Given the description of an element on the screen output the (x, y) to click on. 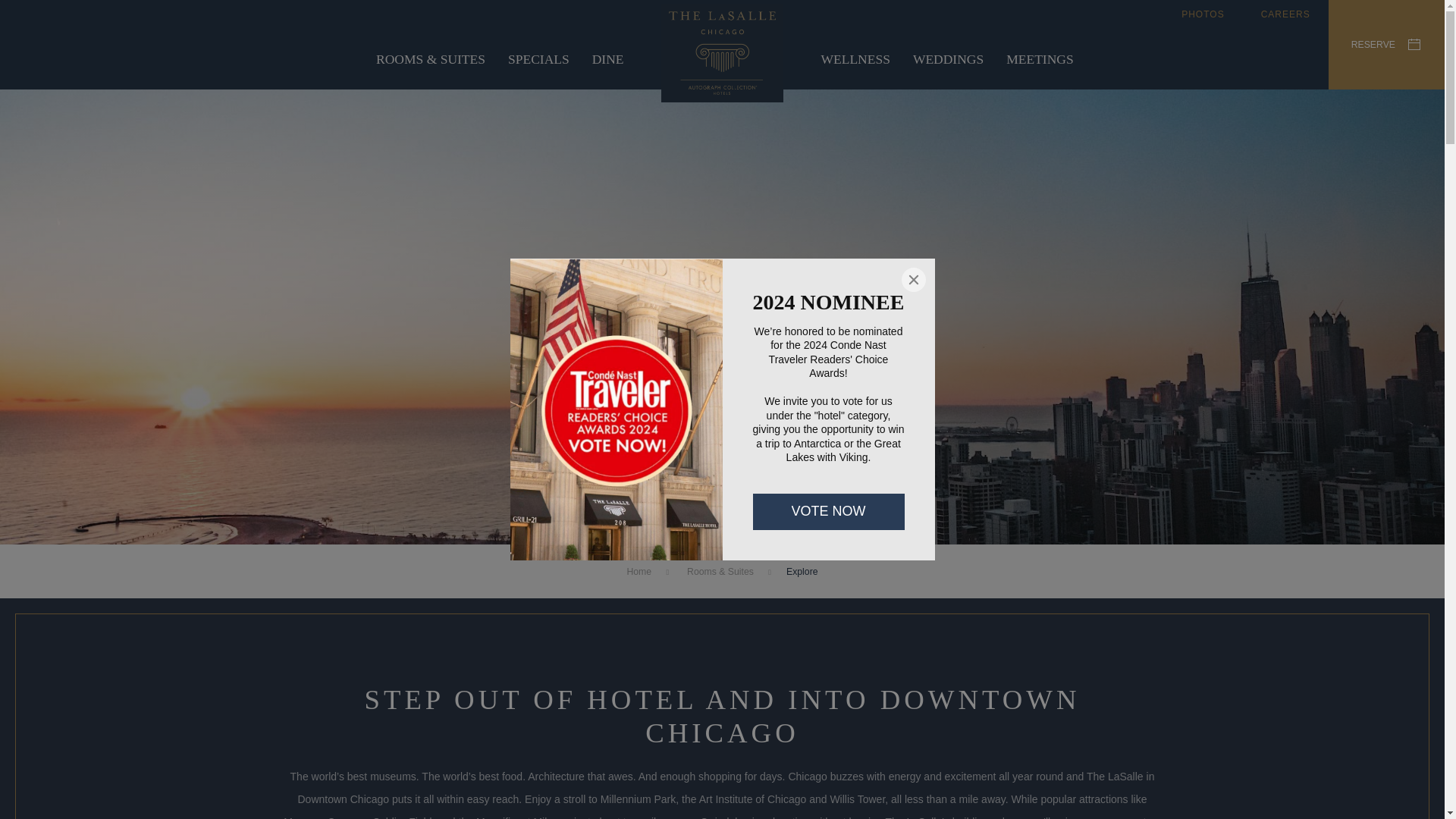
WELLNESS (855, 58)
SPECIALS (538, 58)
DINE (607, 58)
WEDDINGS (947, 58)
Home (639, 571)
MEETINGS (1039, 58)
CAREERS (1285, 14)
PHOTOS (1202, 14)
